Given the description of an element on the screen output the (x, y) to click on. 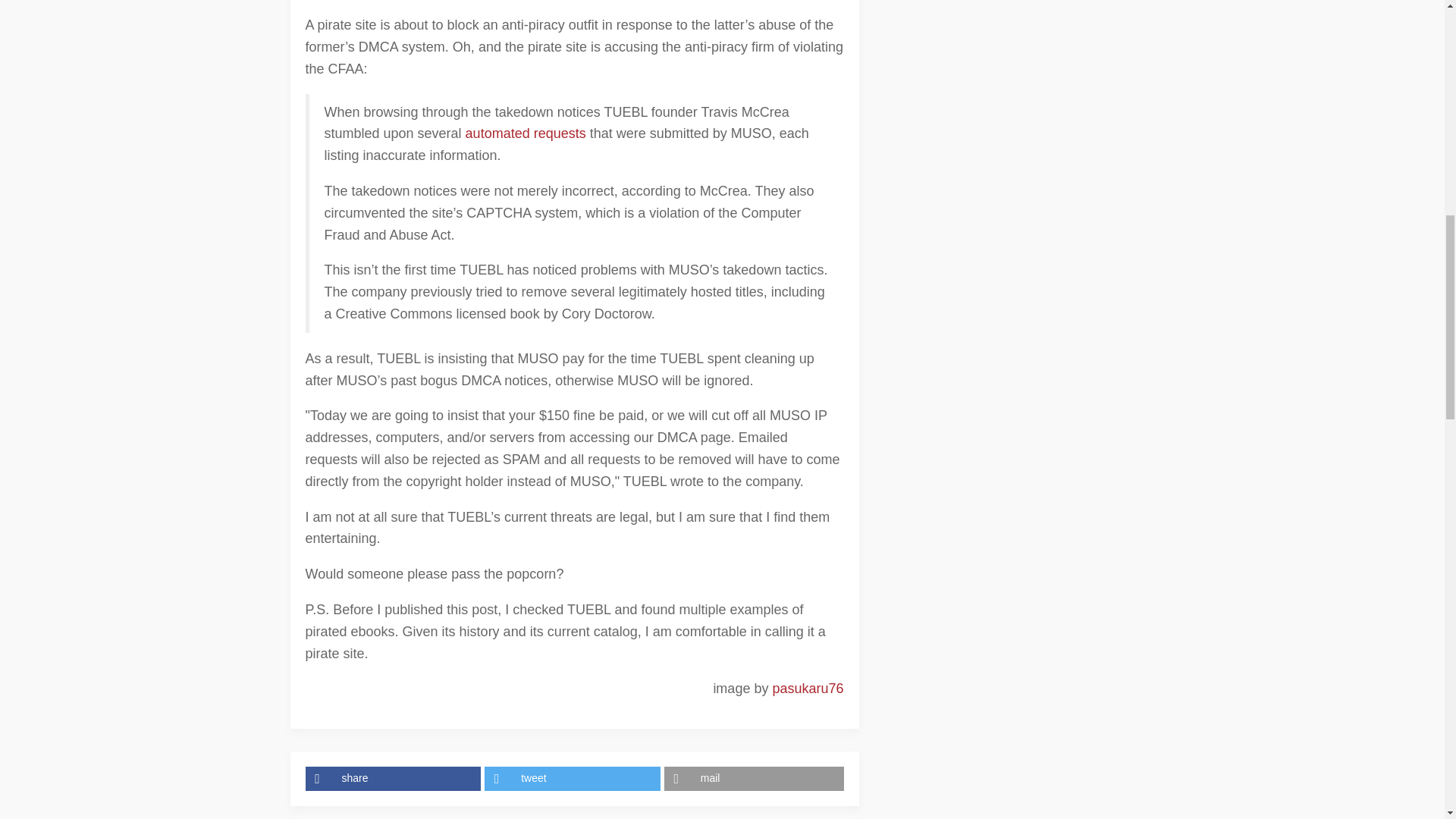
automated requests (525, 133)
share (394, 778)
pasukaru76 (807, 688)
mail (753, 778)
tweet (573, 778)
